Given the description of an element on the screen output the (x, y) to click on. 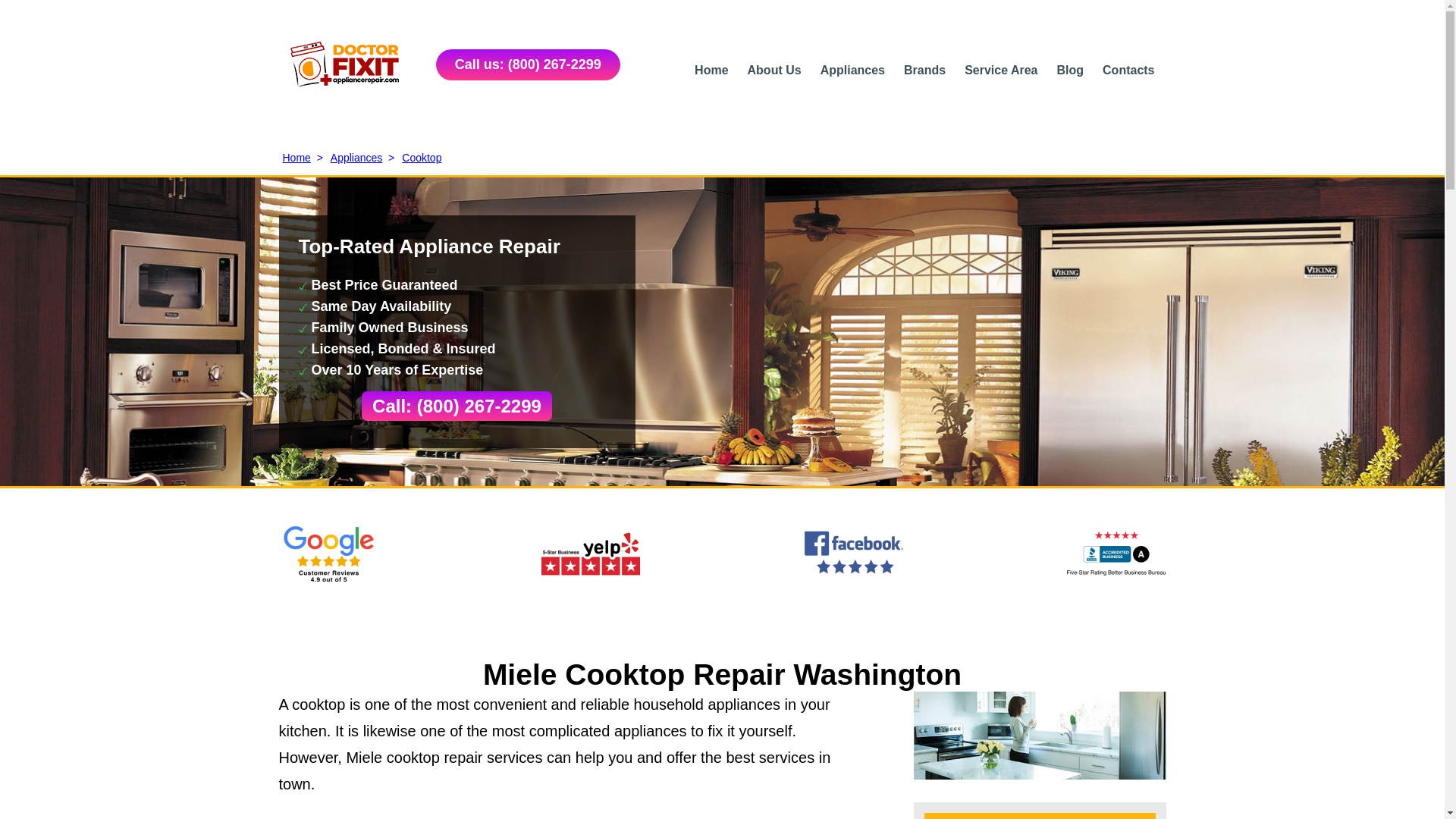
Brands (924, 69)
Appliances (853, 69)
Home (711, 69)
About Us (775, 69)
